Given the description of an element on the screen output the (x, y) to click on. 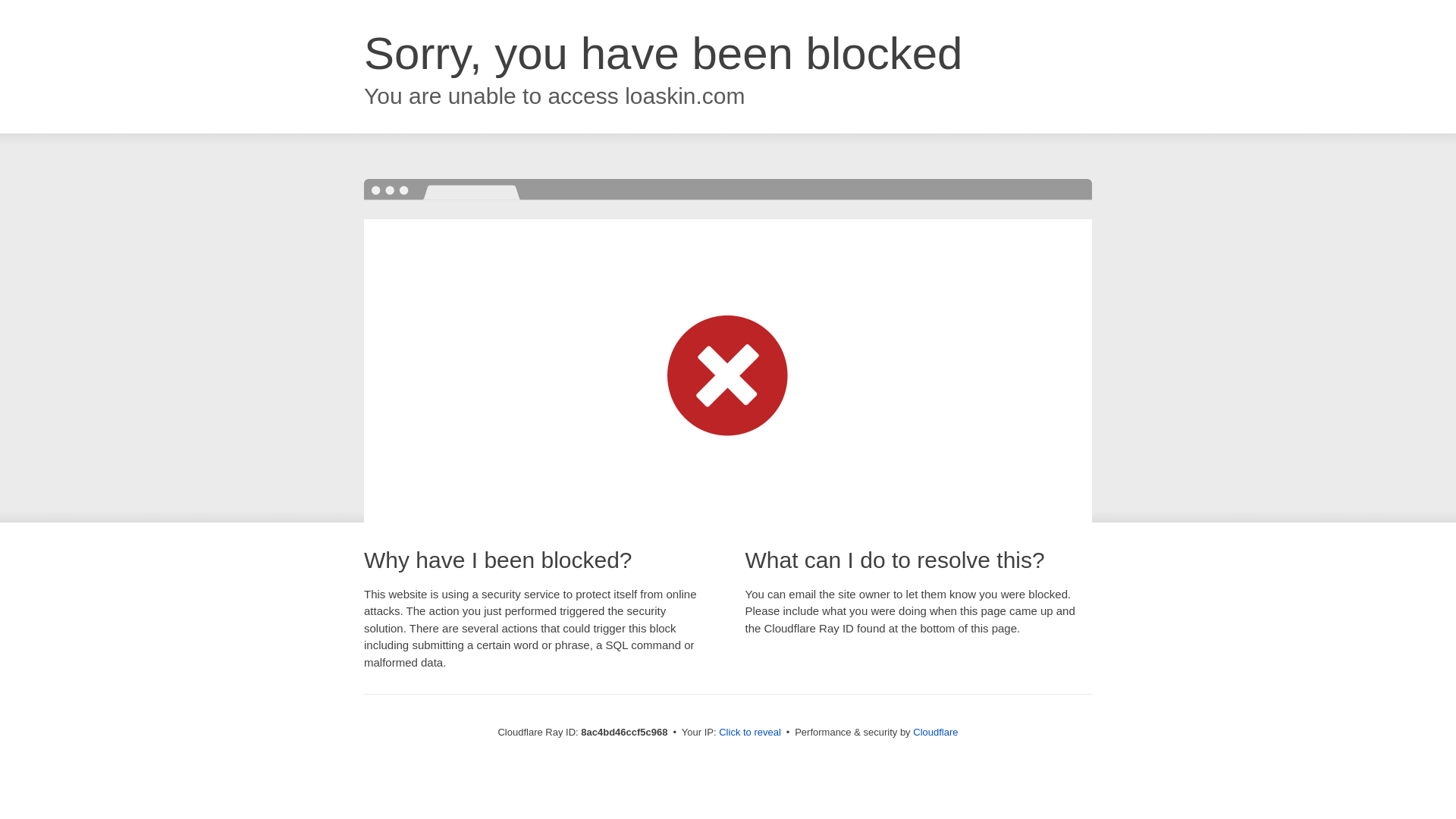
Click to reveal (749, 732)
Cloudflare (935, 731)
